Given the description of an element on the screen output the (x, y) to click on. 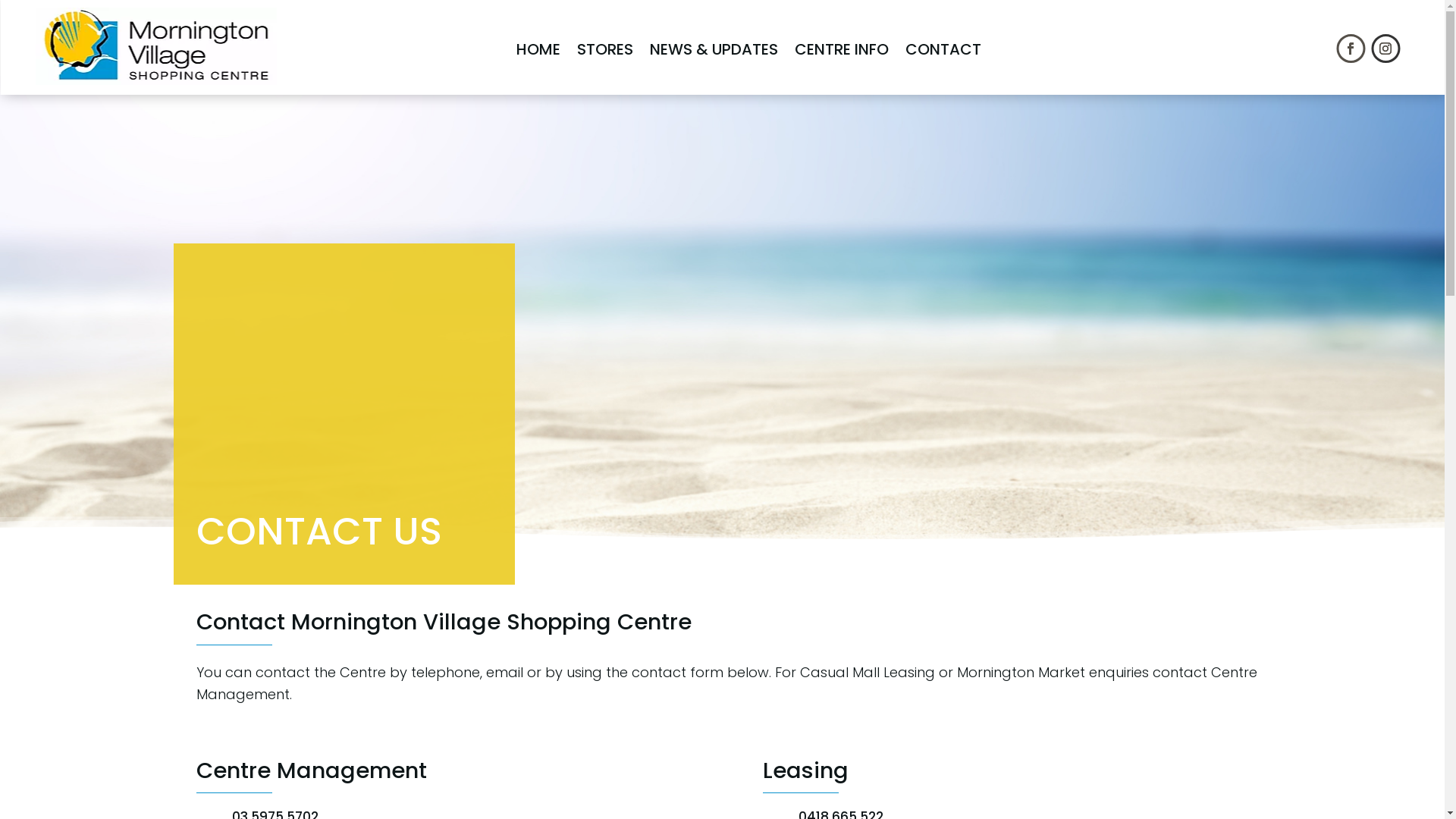
Follow on Instagram Element type: hover (1385, 48)
Follow on Facebook Element type: hover (1350, 48)
CONTACT Element type: text (943, 49)
Mornington Village Logo Element type: hover (156, 45)
HOME Element type: text (538, 49)
STORES Element type: text (605, 49)
NEWS & UPDATES Element type: text (713, 49)
CENTRE INFO Element type: text (841, 49)
